Given the description of an element on the screen output the (x, y) to click on. 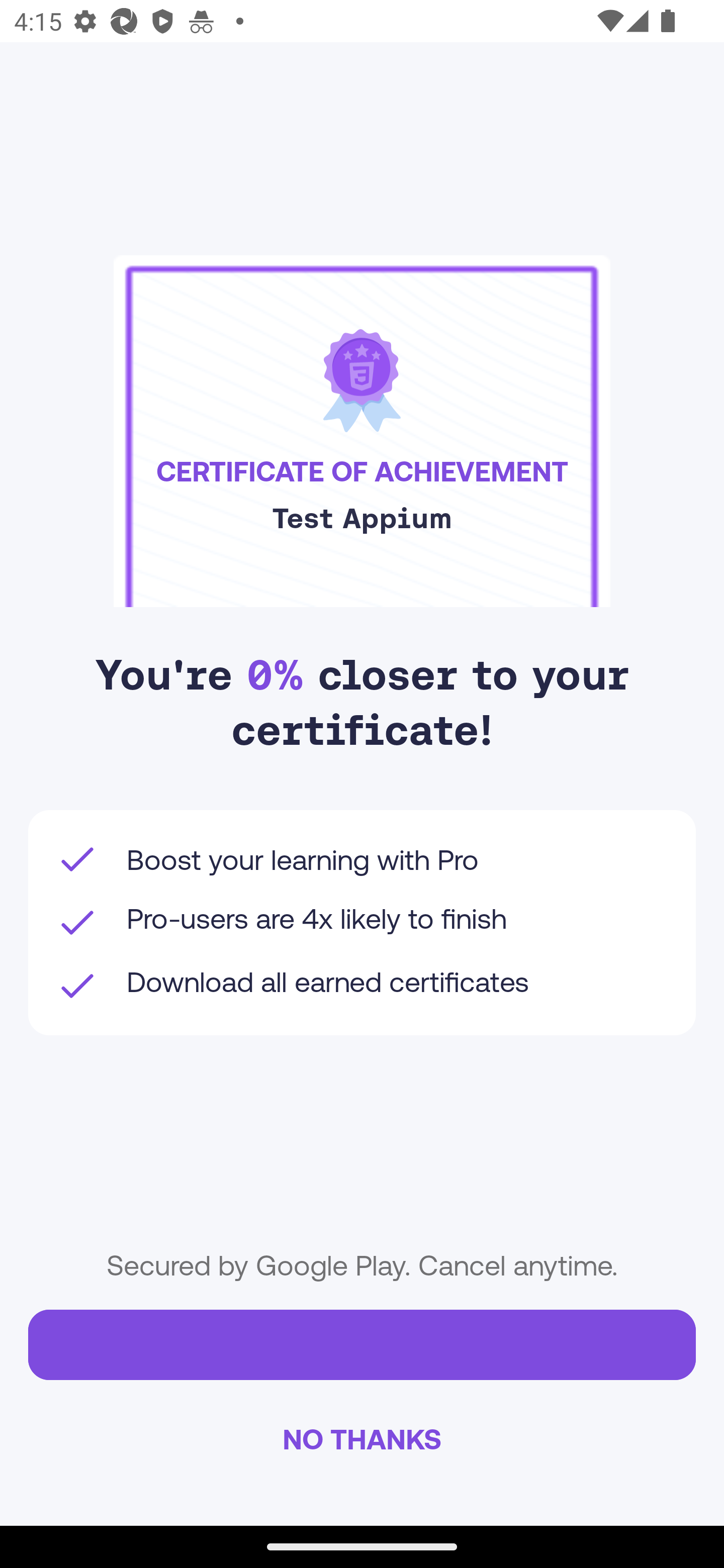
NO THANKS (361, 1438)
